Given the description of an element on the screen output the (x, y) to click on. 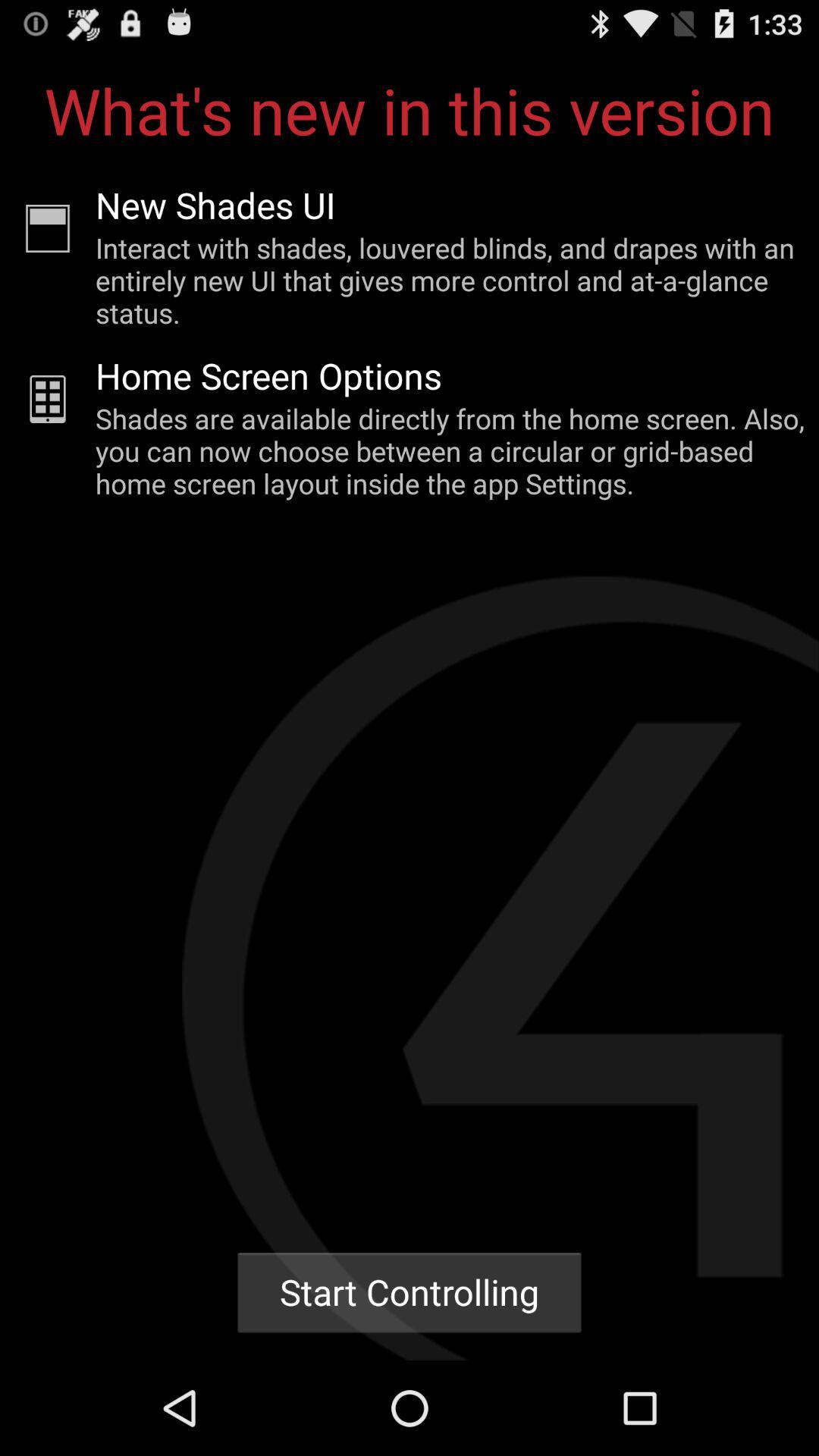
launch icon below the shades are available (409, 1292)
